Given the description of an element on the screen output the (x, y) to click on. 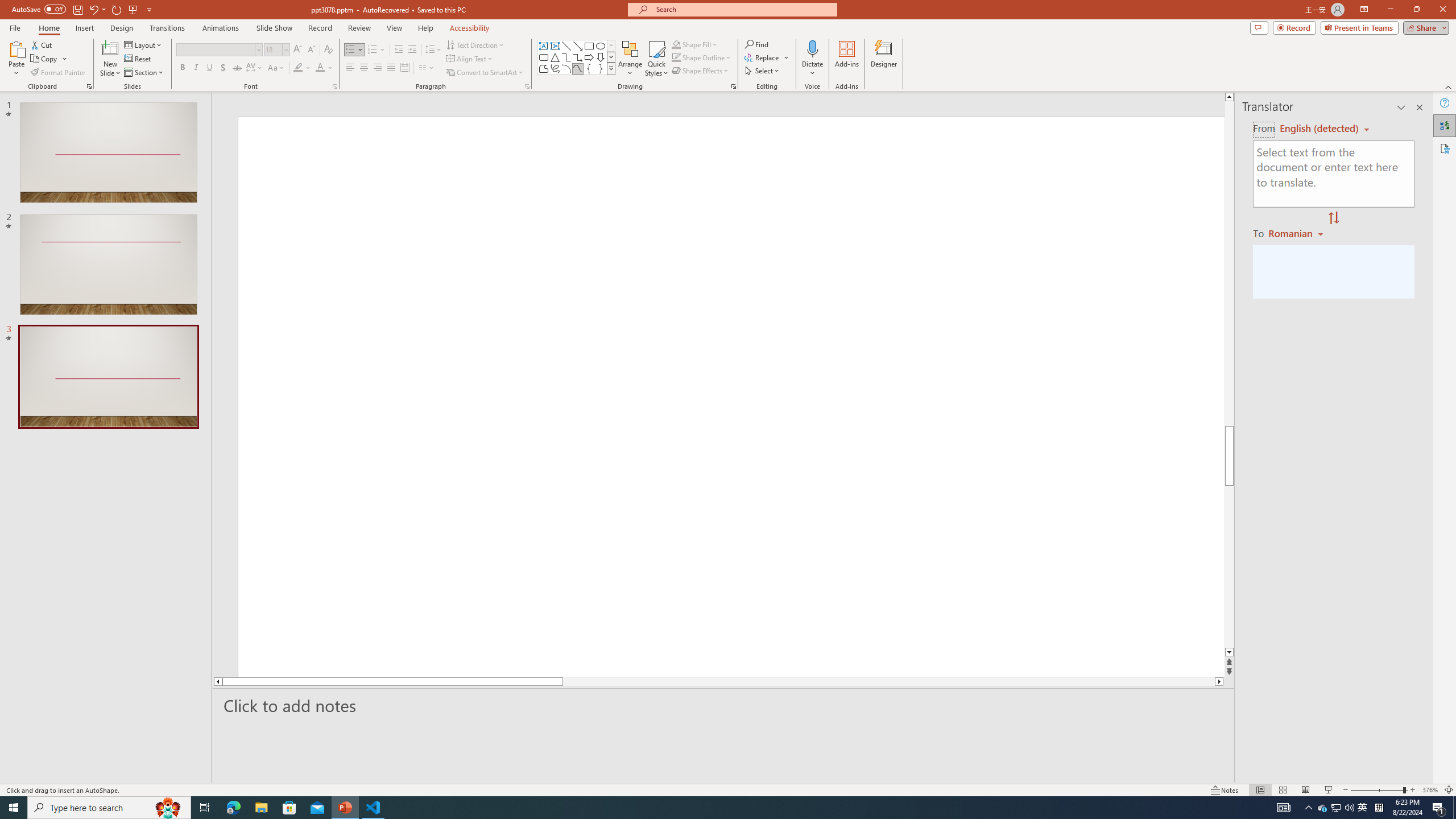
Arrow: Right (589, 57)
